Given the description of an element on the screen output the (x, y) to click on. 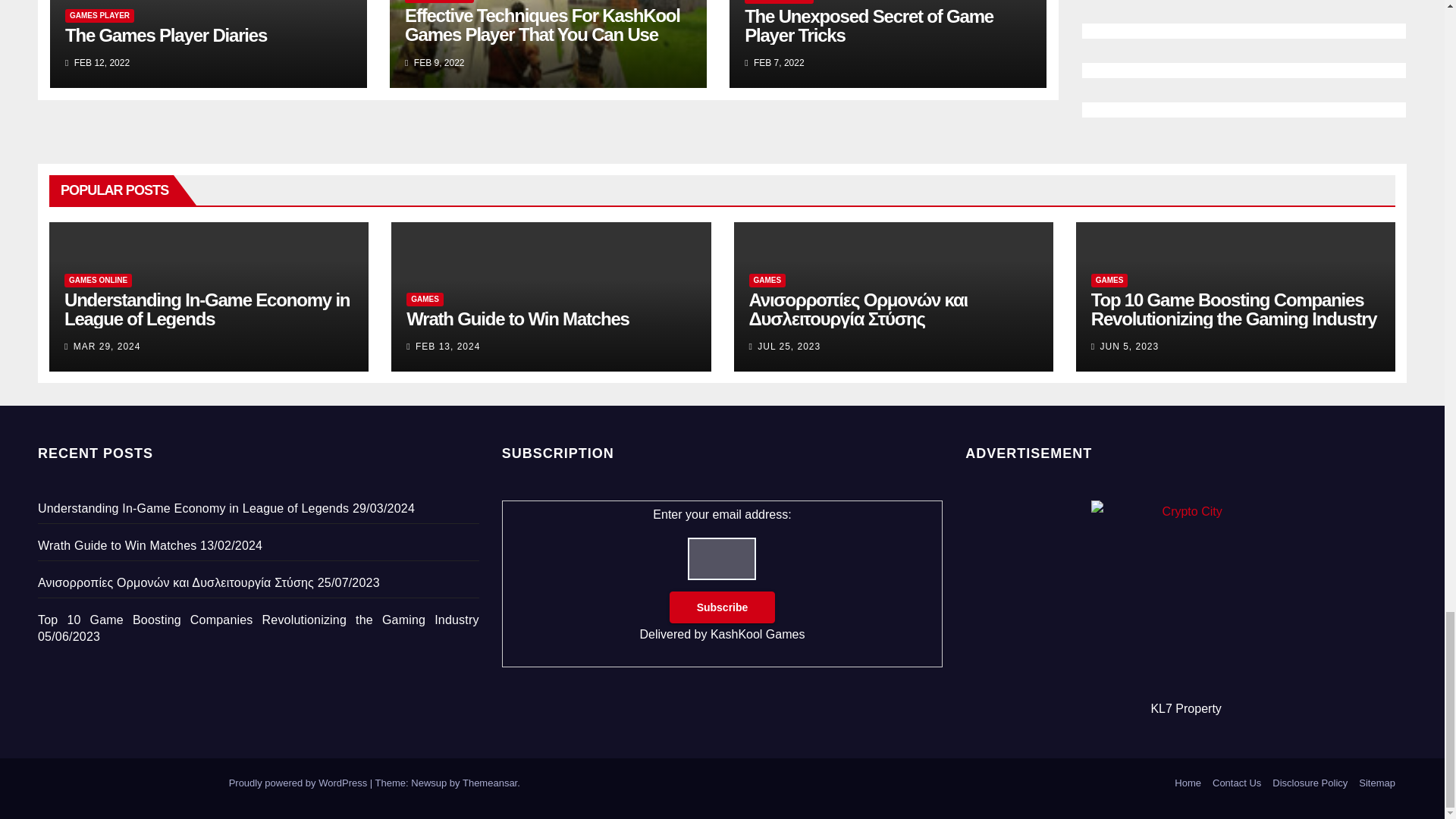
GAMES PLAYER (439, 1)
Subscribe (722, 607)
Permalink to: The Games Player Diaries (165, 35)
GAMES PLAYER (99, 15)
The Unexposed Secret of Game Player Tricks (868, 25)
Permalink to: Wrath Guide to Win Matches (517, 318)
The Games Player Diaries (165, 35)
